Given the description of an element on the screen output the (x, y) to click on. 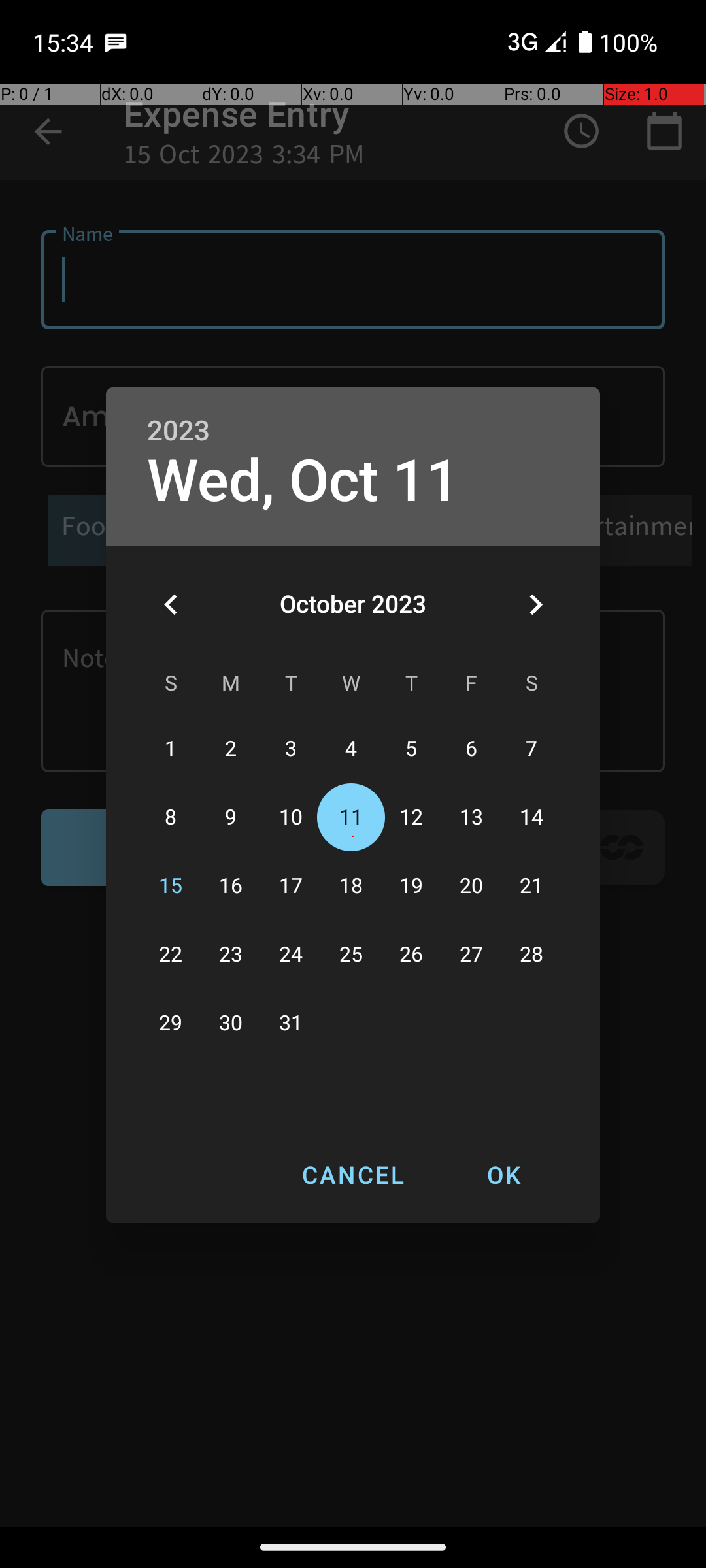
Wed, Oct 11 Element type: android.widget.TextView (303, 480)
